Given the description of an element on the screen output the (x, y) to click on. 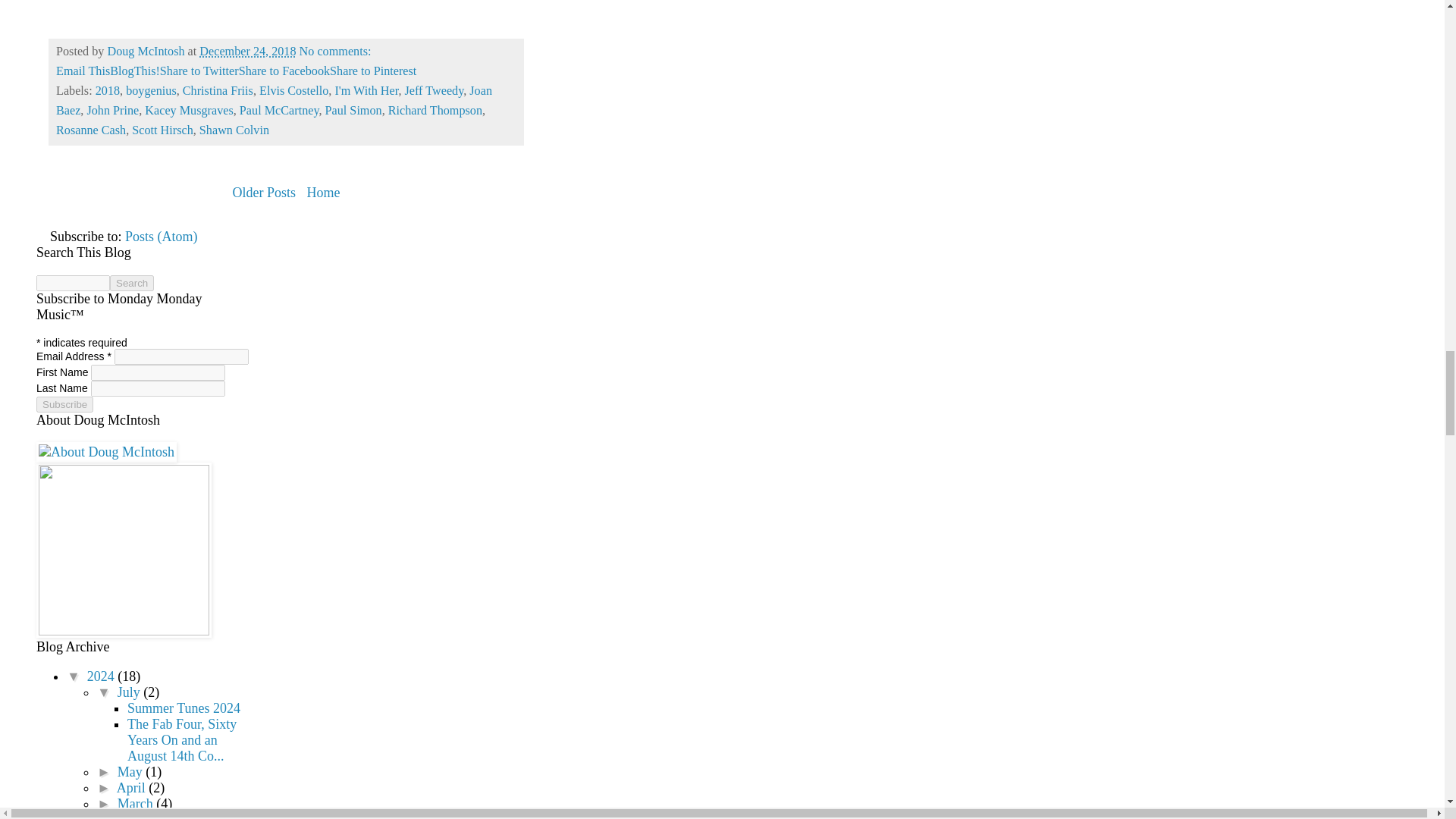
Search (132, 283)
author profile (146, 51)
Older Posts (263, 191)
permanent link (247, 51)
BlogThis! (135, 70)
Share to Twitter (199, 70)
Share to Pinterest (373, 70)
Share to Facebook (284, 70)
Search (132, 283)
Subscribe (64, 404)
Email This (83, 70)
